Given the description of an element on the screen output the (x, y) to click on. 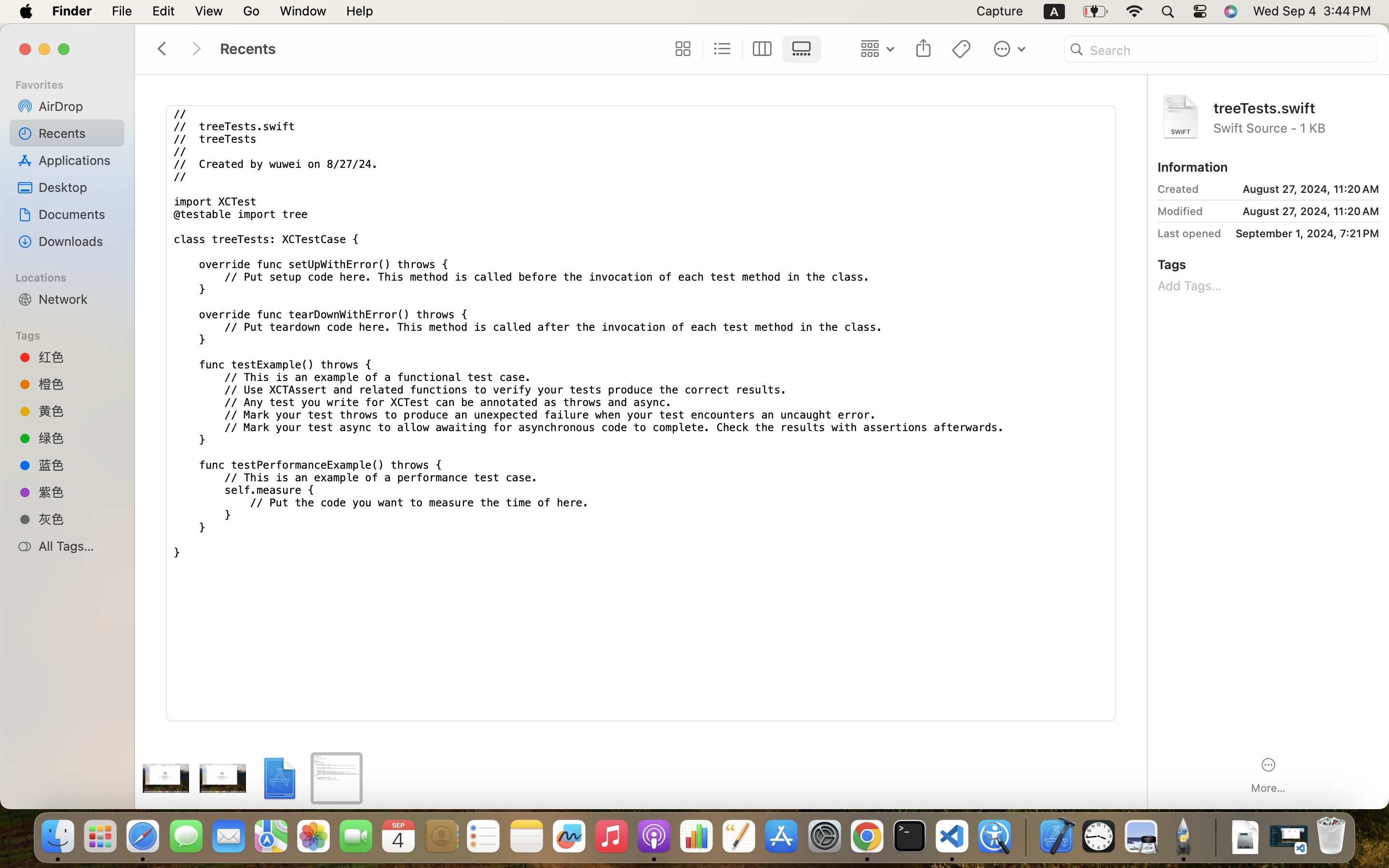
0 Element type: AXRadioButton (680, 48)
Applications Element type: AXStaticText (77, 159)
Modified Element type: AXStaticText (1179, 210)
1 Element type: AXRadioButton (804, 48)
Recents Element type: AXStaticText (77, 132)
